Given the description of an element on the screen output the (x, y) to click on. 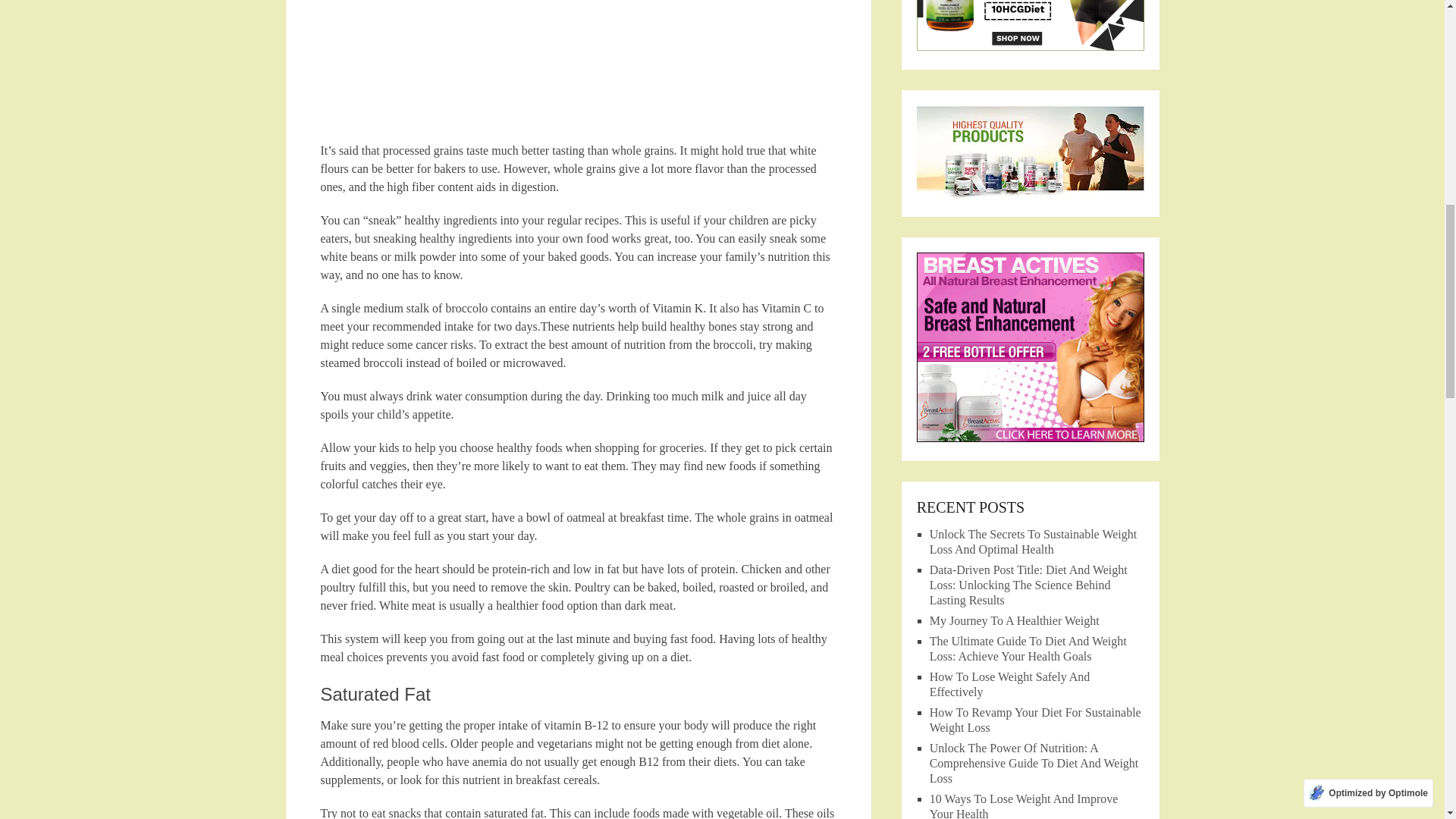
My Journey To A Healthier Weight (1014, 620)
How To Lose Weight Safely And Effectively (1010, 684)
How To Revamp Your Diet For Sustainable Weight Loss (1035, 719)
10 Ways To Lose Weight And Improve Your Health (1024, 805)
Advertisement (577, 70)
